Given the description of an element on the screen output the (x, y) to click on. 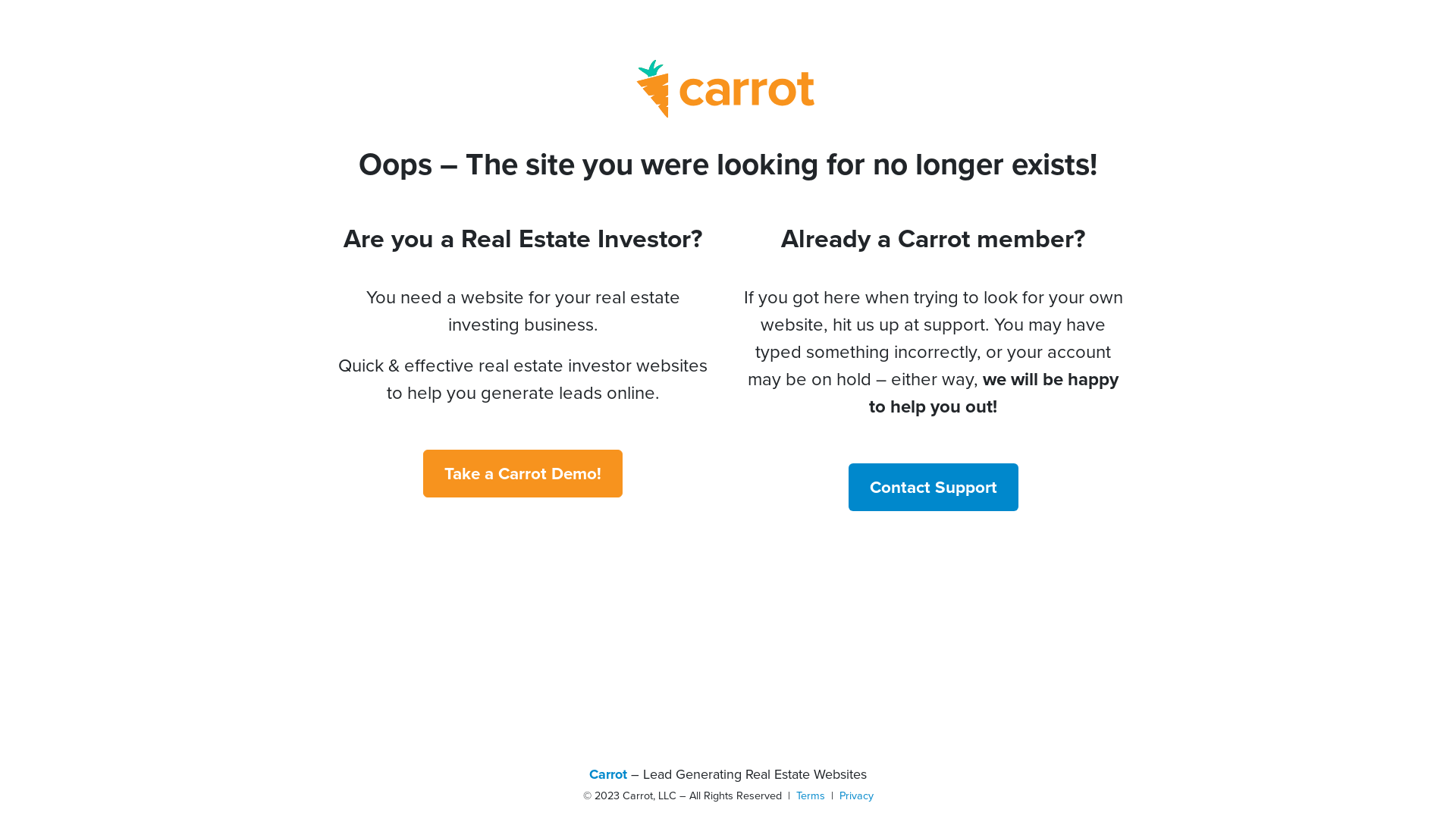
Privacy Element type: text (855, 795)
Terms Element type: text (810, 795)
Take a Carrot Demo! Element type: text (522, 473)
Carrot Element type: text (608, 774)
Contact Support Element type: text (932, 487)
